Given the description of an element on the screen output the (x, y) to click on. 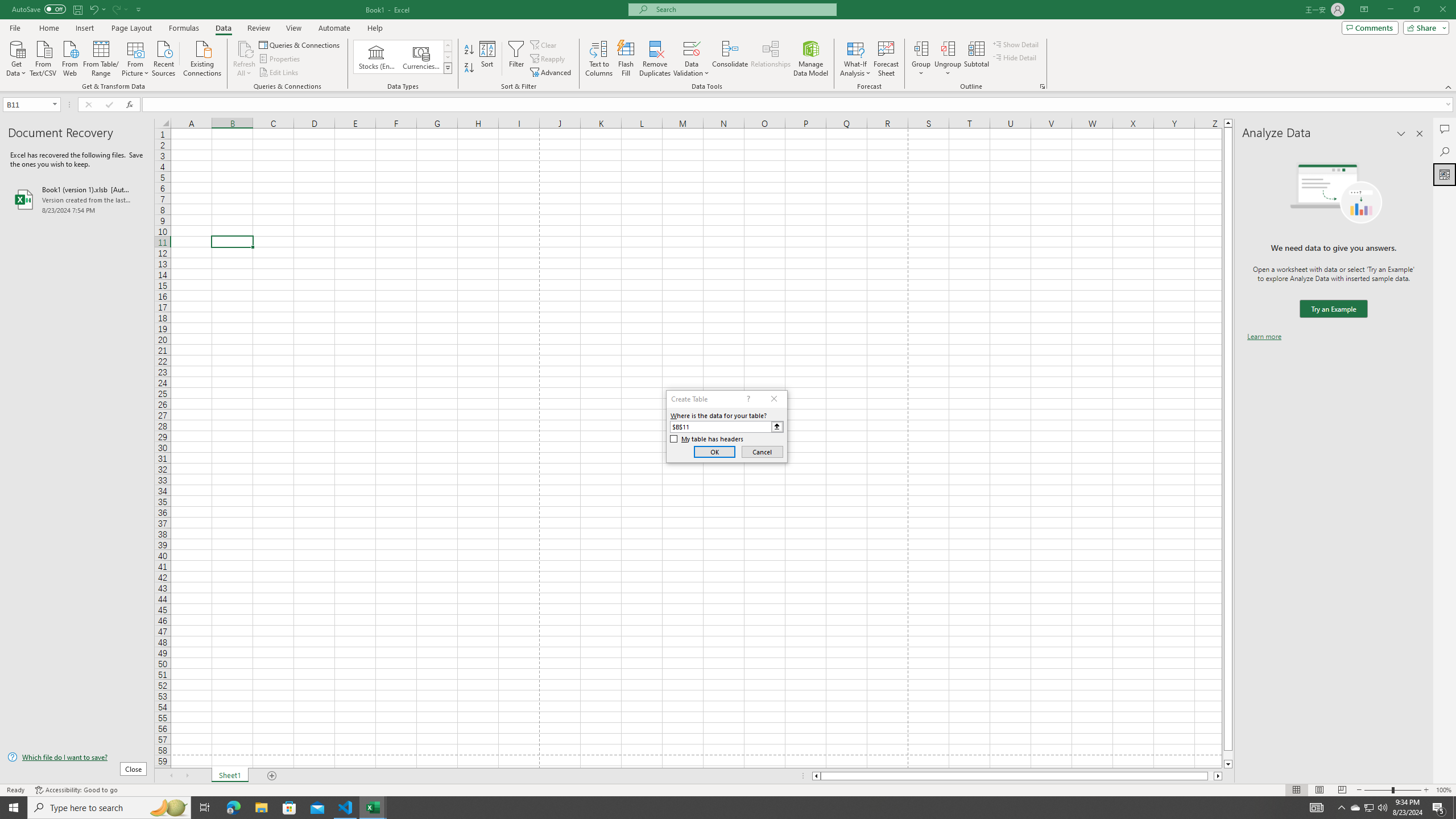
Reapply (548, 58)
What-If Analysis (855, 58)
